Given the description of an element on the screen output the (x, y) to click on. 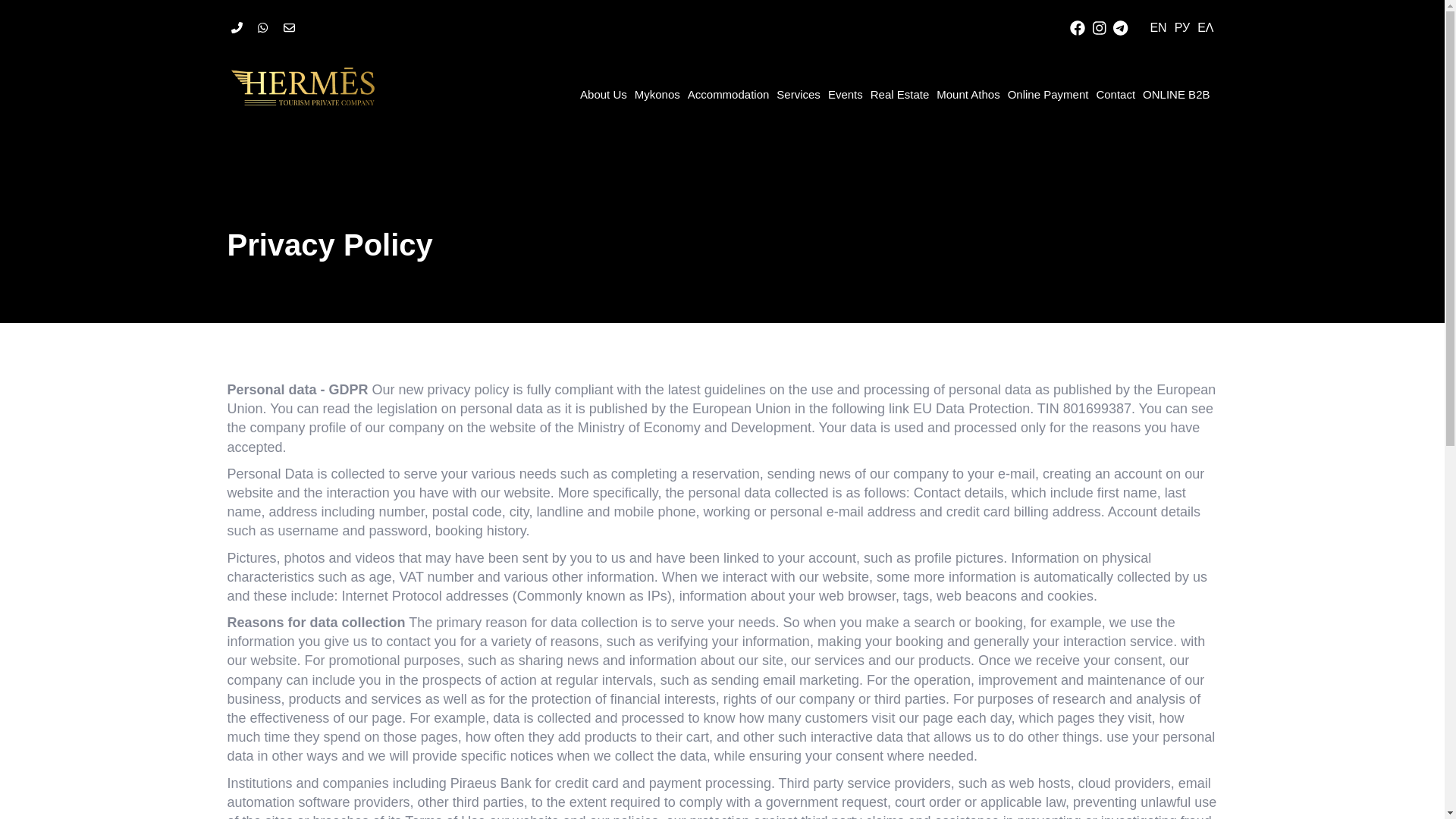
Online Payment (1048, 94)
About Us (603, 94)
telegram (1120, 27)
EN (1158, 27)
ONLINE B2B (1175, 94)
Real Estate (899, 94)
Mount Athos (968, 94)
Services (798, 94)
